Given the description of an element on the screen output the (x, y) to click on. 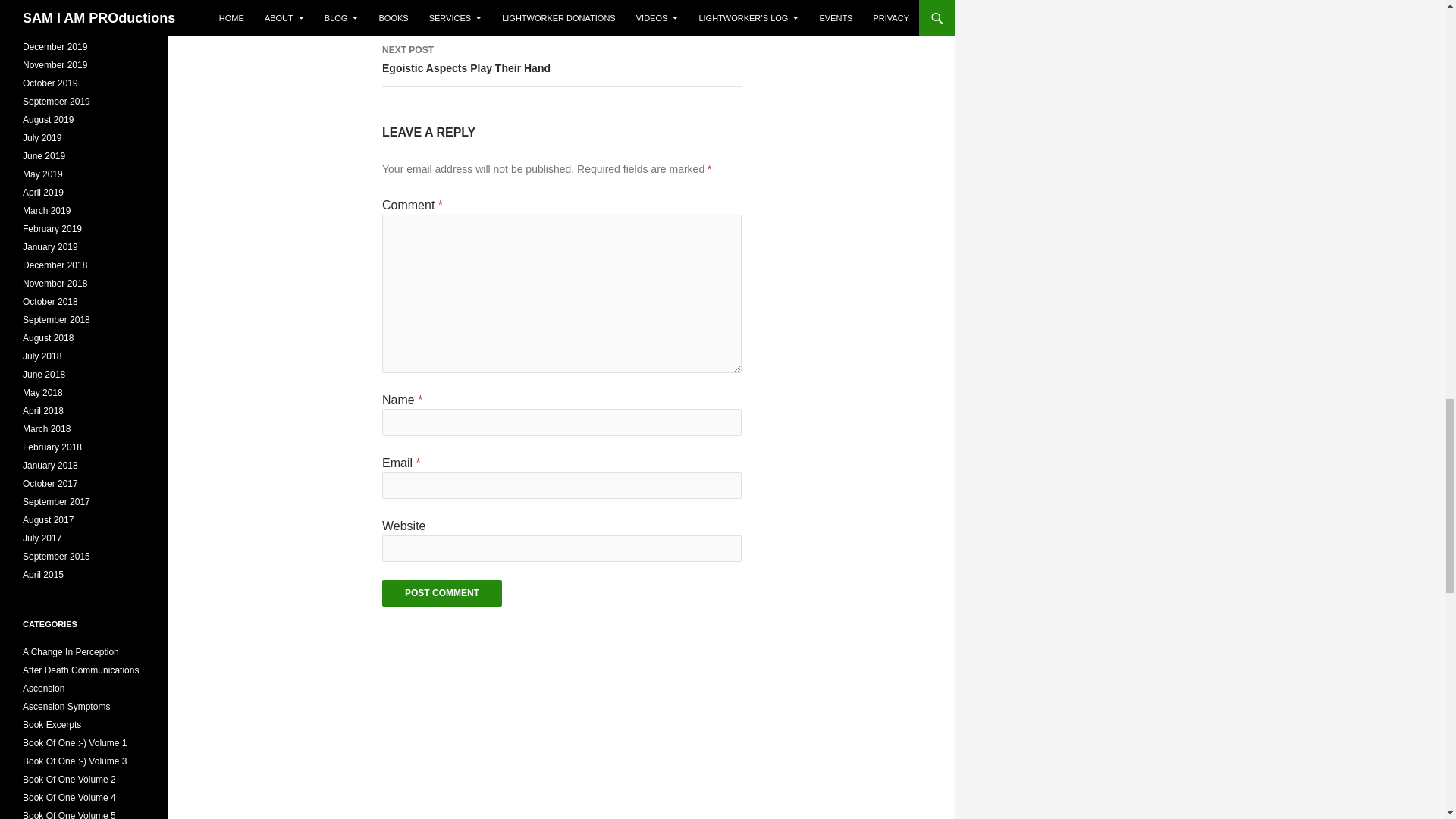
Post Comment (441, 592)
